Given the description of an element on the screen output the (x, y) to click on. 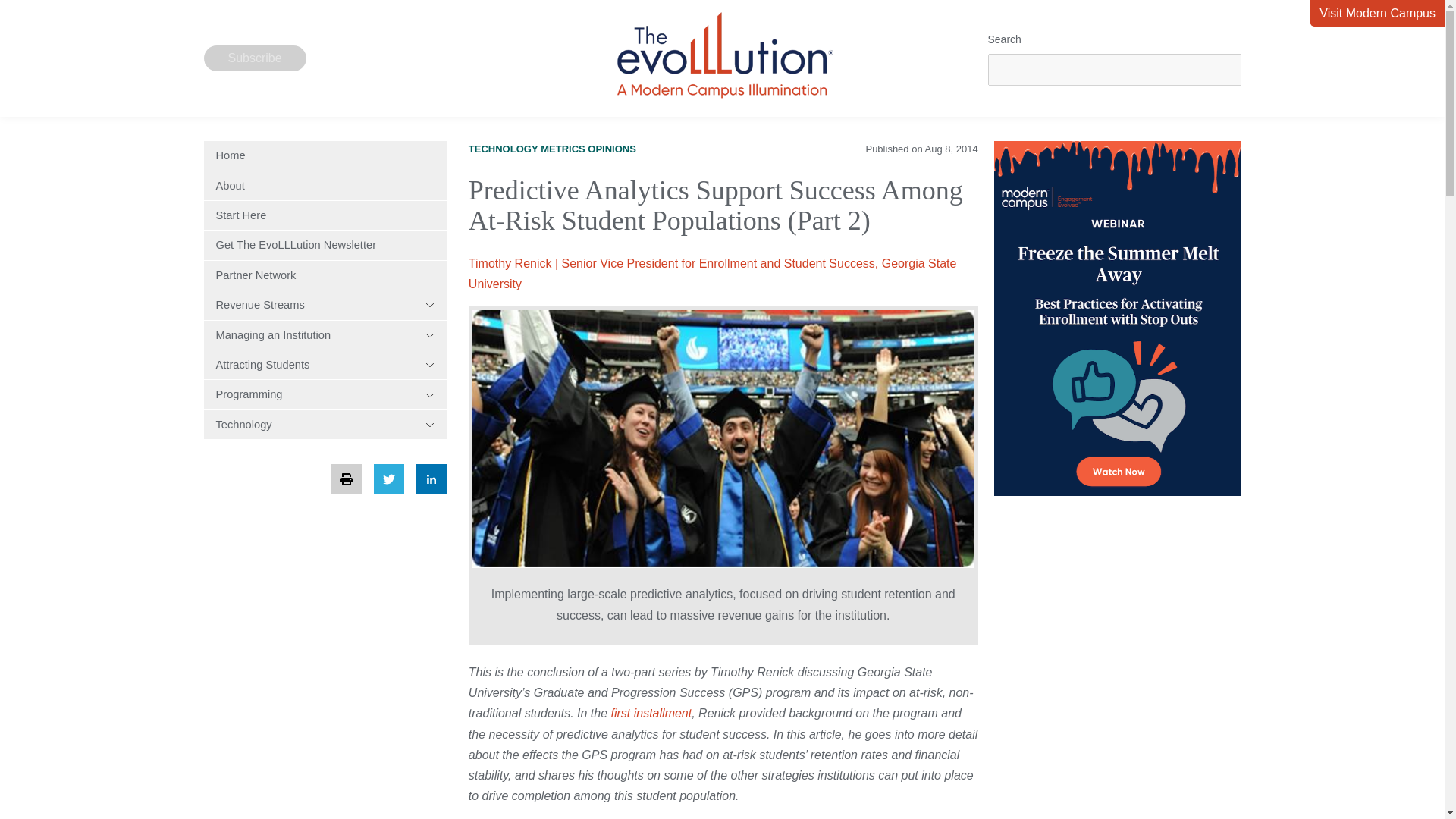
About (324, 185)
Partner Network (324, 275)
Get The EvoLLLution Newsletter (324, 244)
Programming (324, 394)
Revenue Streams (324, 304)
Attracting Students (324, 364)
Subscribe (254, 58)
Home (324, 154)
Start Here (324, 215)
Managing an Institution (324, 335)
